Given the description of an element on the screen output the (x, y) to click on. 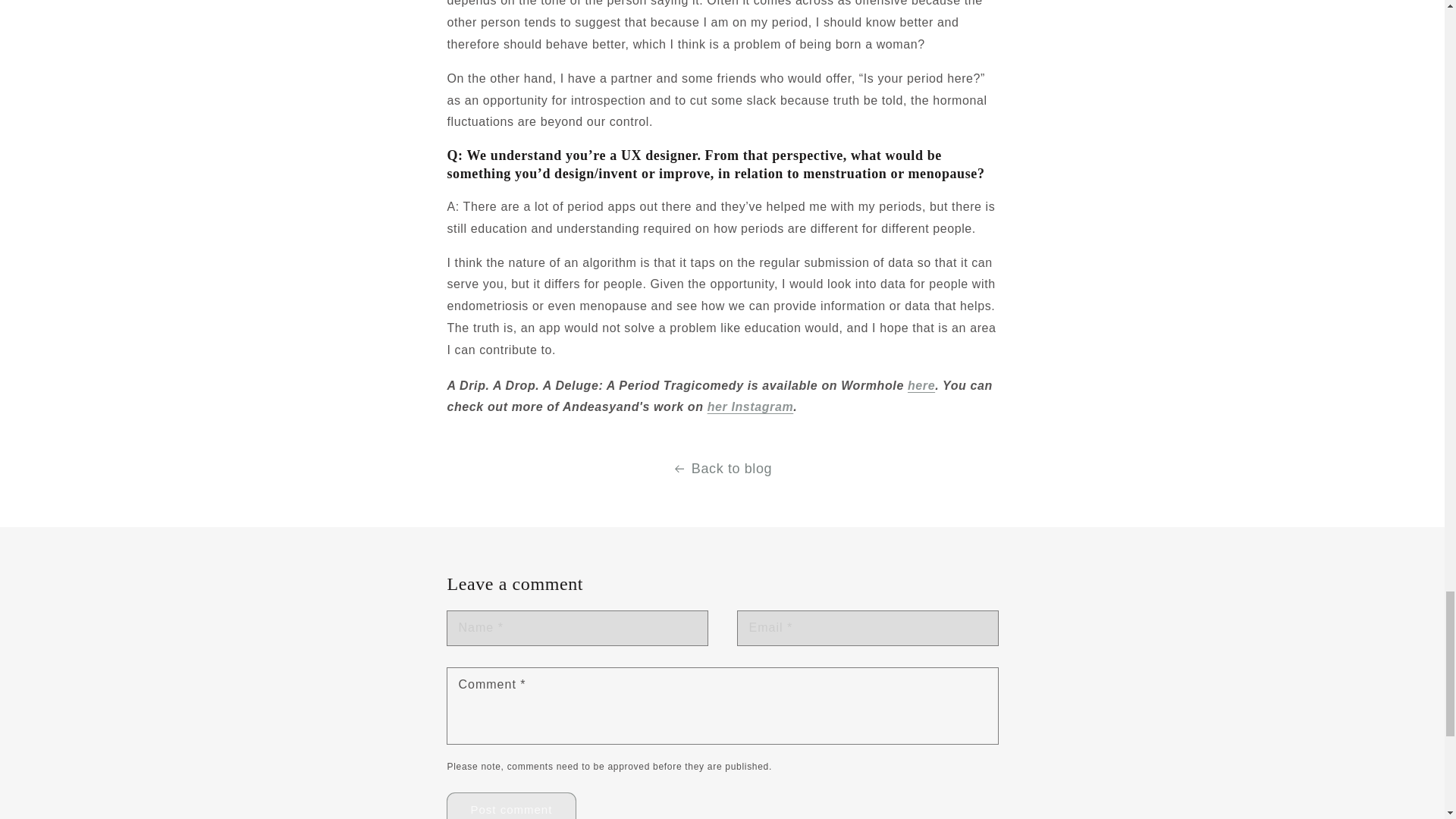
Post comment (511, 806)
